Given the description of an element on the screen output the (x, y) to click on. 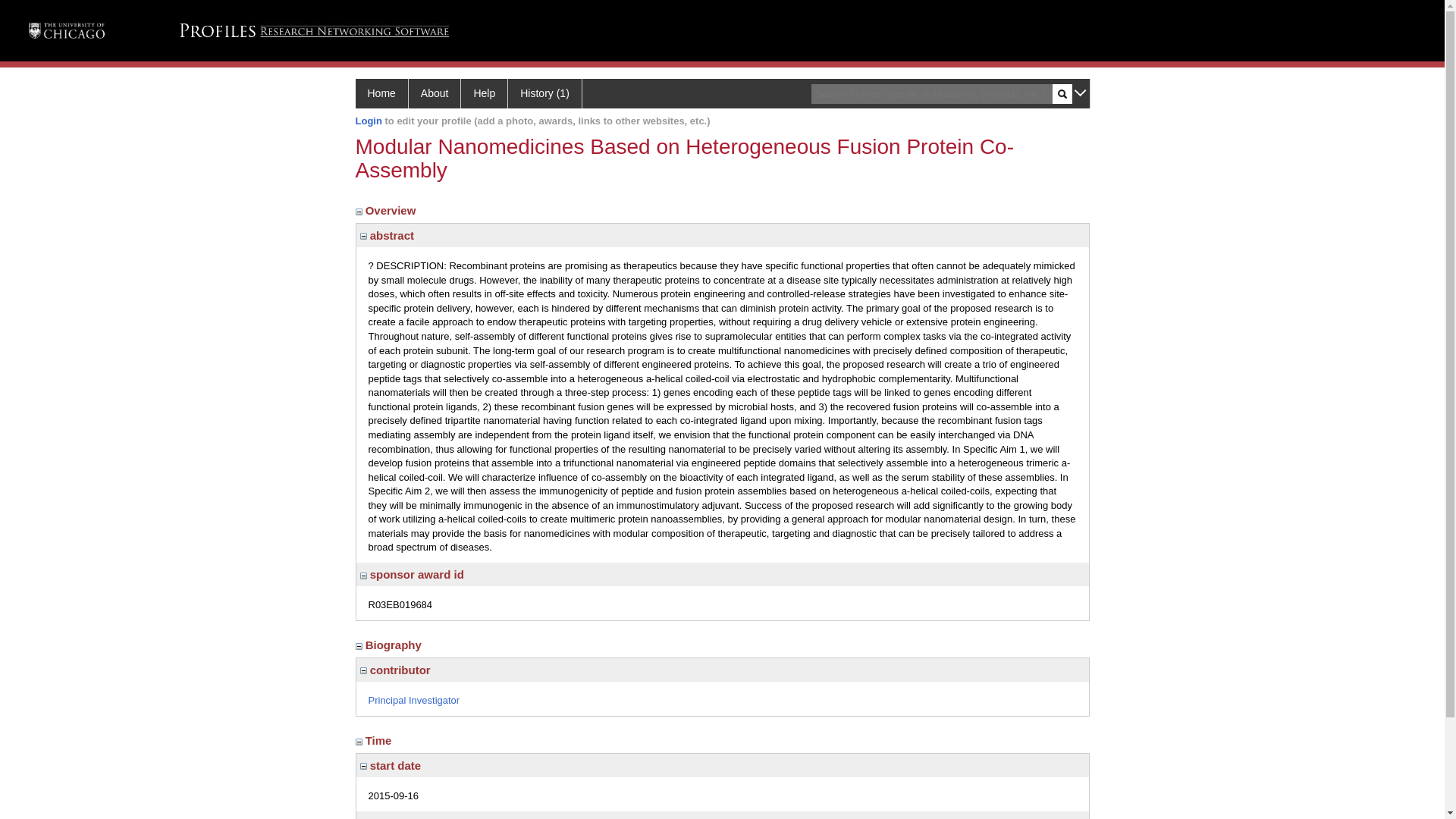
Login (368, 120)
Help (484, 93)
Home (381, 93)
About (435, 93)
Principal Investigator (414, 699)
